Given the description of an element on the screen output the (x, y) to click on. 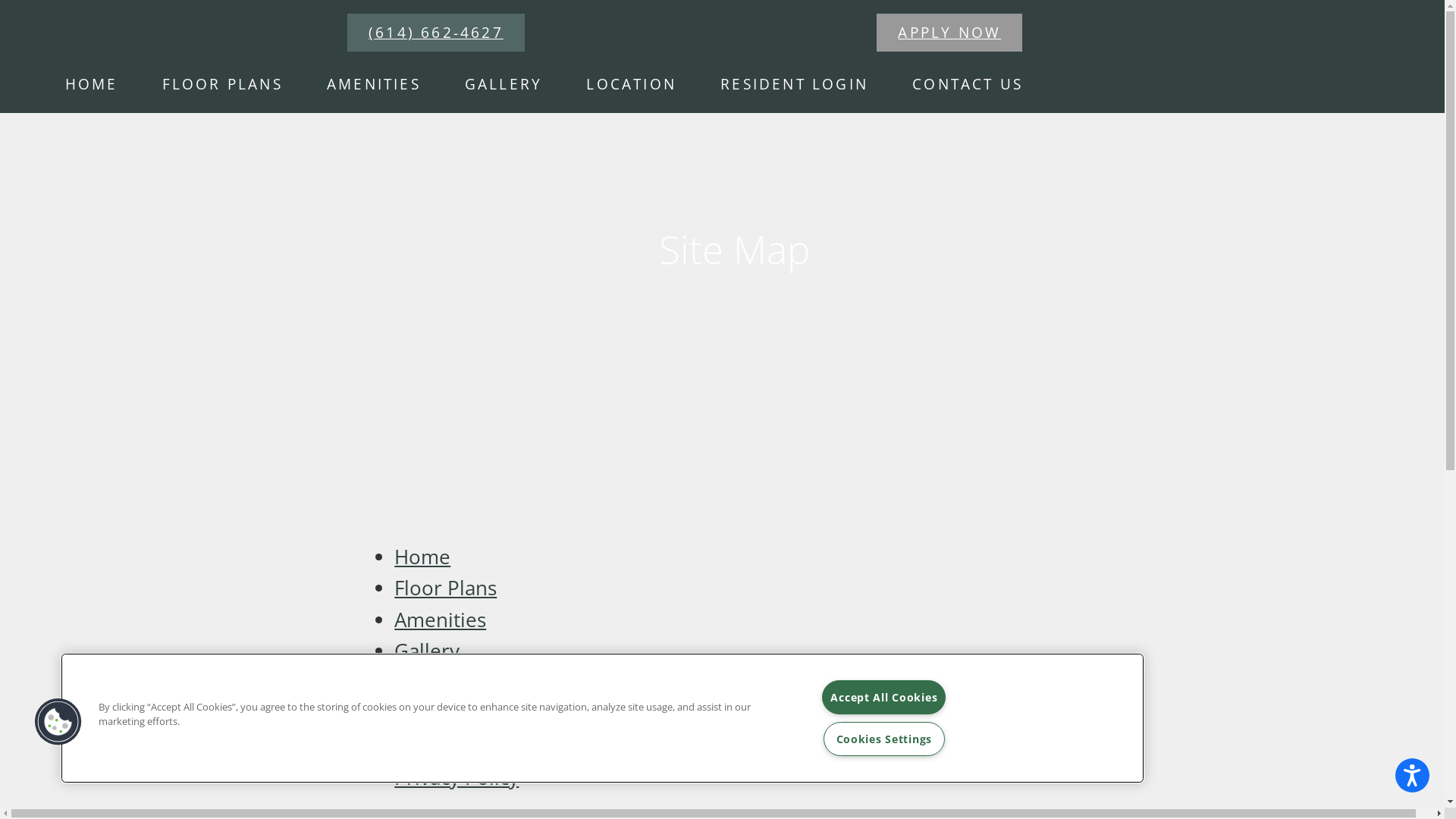
Privacy Policy Element type: text (456, 777)
Cookies Settings Element type: text (883, 738)
Amenities Element type: text (440, 619)
Cookies Button Element type: text (58, 721)
FLOOR PLANS Element type: text (222, 83)
GALLERY Element type: text (503, 83)
LOCATION Element type: text (630, 83)
Gallery Element type: text (426, 650)
Home Element type: text (422, 556)
CONTACT US Element type: text (967, 83)
(614) 662-4627 Element type: text (435, 32)
Resident Login Element type: text (462, 714)
RESIDENT LOGIN Element type: text (794, 83)
Floor Plans Element type: text (445, 587)
Home Element type: hover (12, 16)
AMENITIES Element type: text (373, 83)
Location Element type: text (433, 682)
APPLY NOW Element type: text (949, 32)
Accept All Cookies Element type: text (883, 697)
Contact Us Element type: text (443, 745)
HOME Element type: text (90, 83)
